Given the description of an element on the screen output the (x, y) to click on. 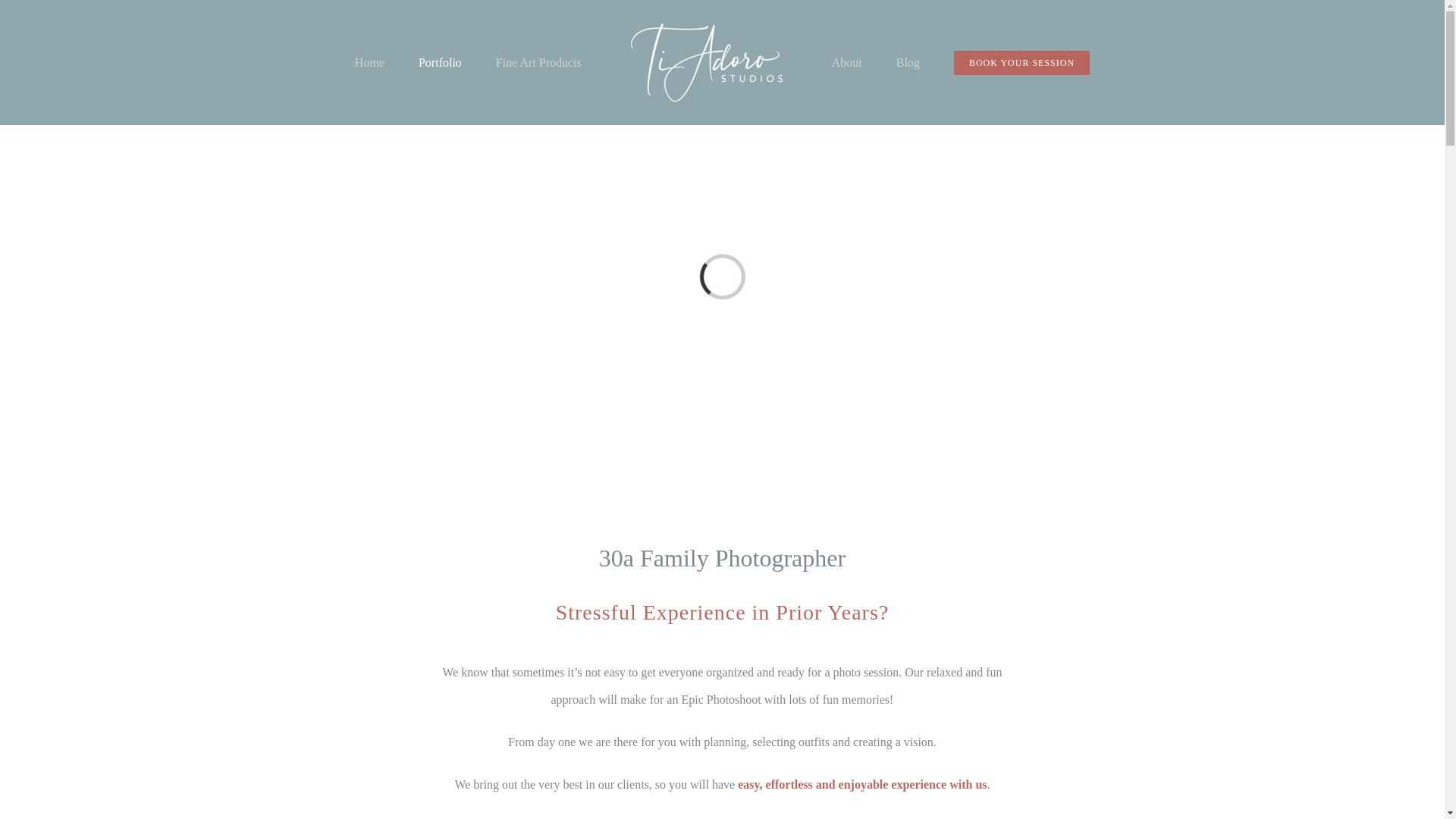
BOOK YOUR SESSION (1021, 61)
Fine Art Products (538, 61)
